Given the description of an element on the screen output the (x, y) to click on. 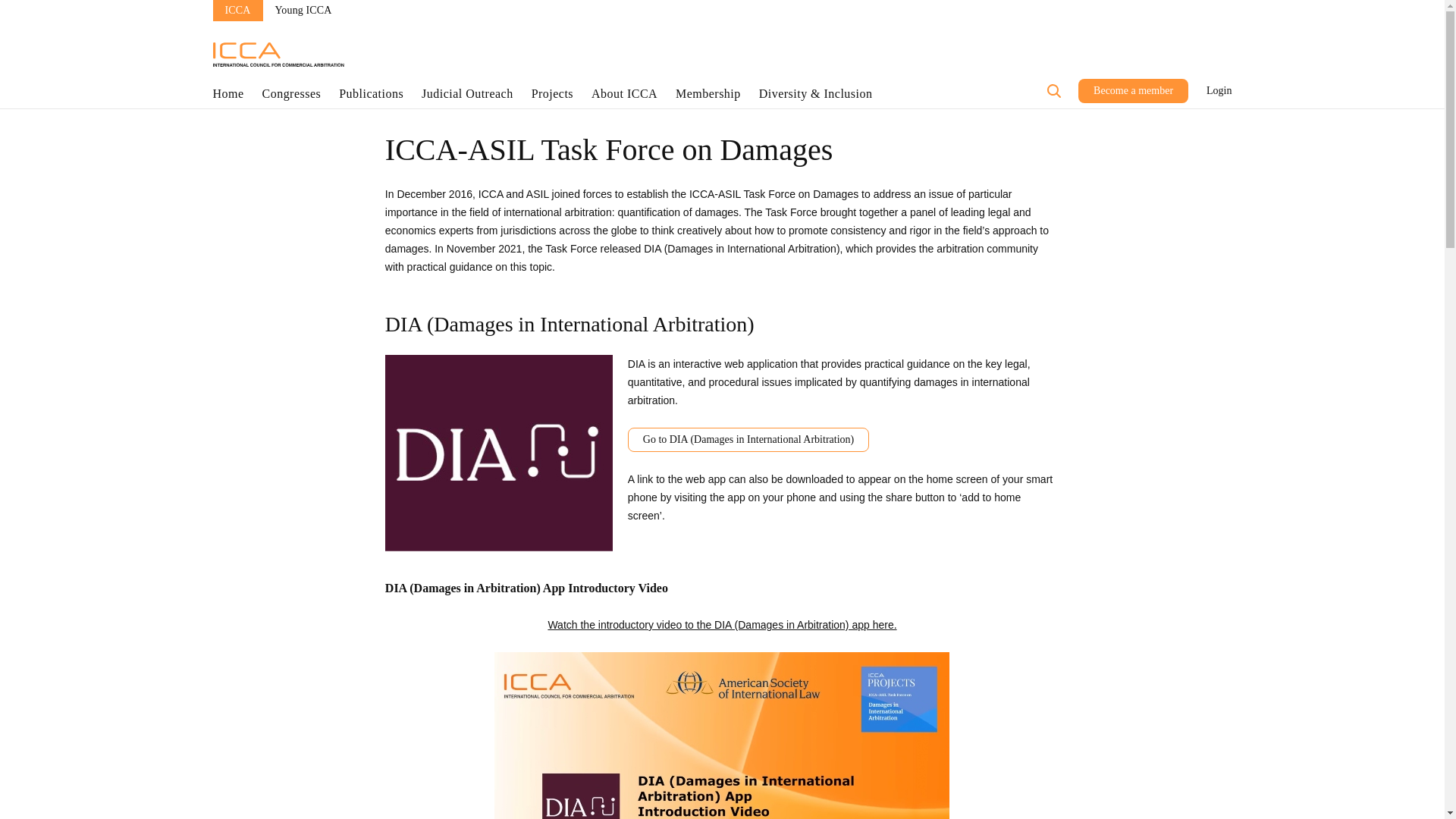
Publications (371, 96)
Judicial Outreach (467, 96)
Congresses (291, 96)
Young ICCA (303, 10)
Home (227, 96)
Membership (708, 96)
Become a member (1133, 90)
Login (1219, 90)
Projects (552, 96)
